Given the description of an element on the screen output the (x, y) to click on. 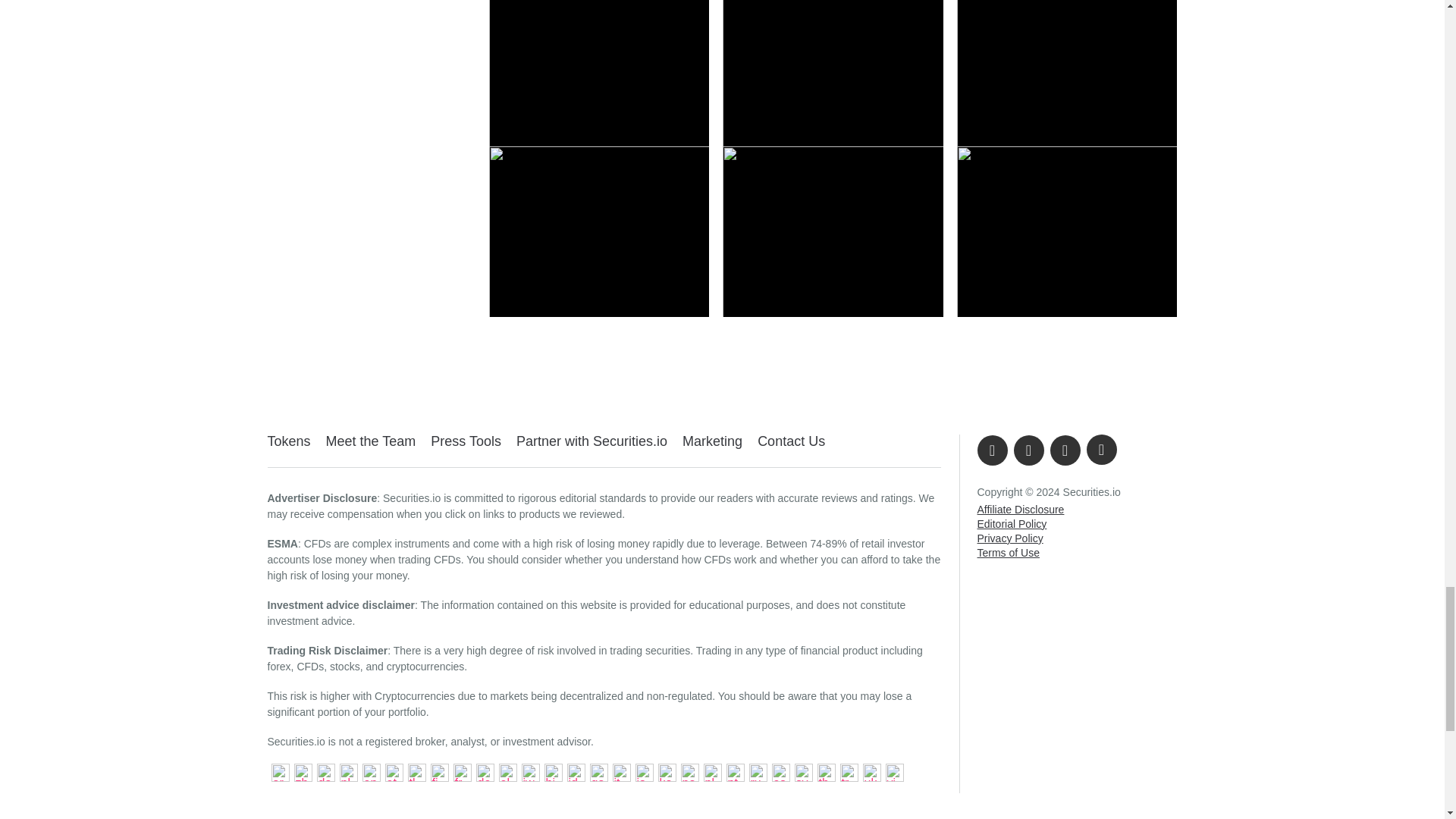
Finnish (437, 771)
Hebrew (528, 771)
Estonian (391, 771)
English (369, 771)
Hindi (551, 771)
Filipino (414, 771)
Arabic (277, 771)
Dutch (346, 771)
German (483, 771)
Danish (323, 771)
